Given the description of an element on the screen output the (x, y) to click on. 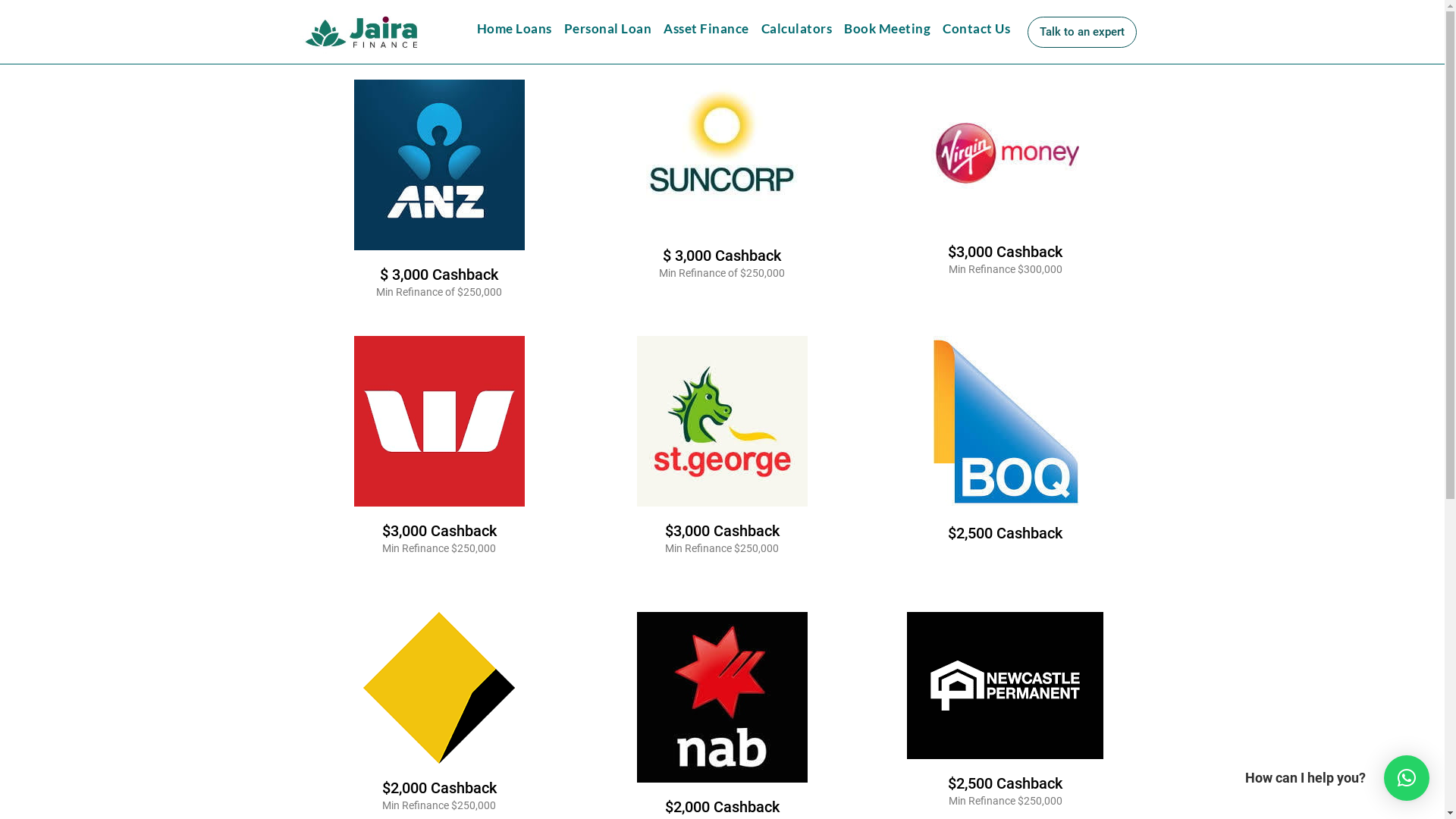
Calculators Element type: text (796, 28)
Asset Finance Element type: text (706, 28)
How can I help you? Element type: text (1406, 777)
Personal Loan Element type: text (608, 28)
Talk to an expert Element type: text (1081, 31)
Home Loans Element type: text (513, 28)
Contact Us Element type: text (976, 28)
Book Meeting Element type: text (886, 28)
